Given the description of an element on the screen output the (x, y) to click on. 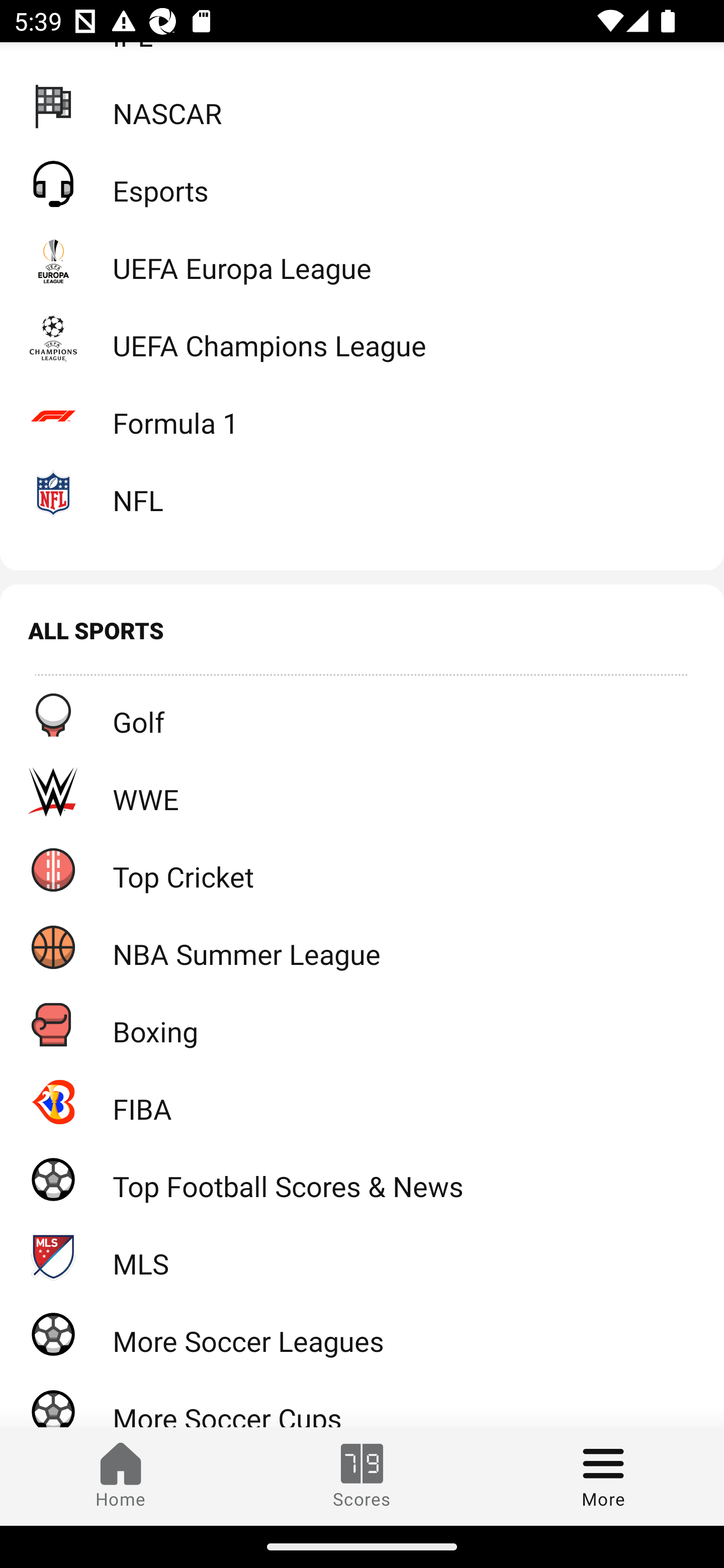
NASCAR (362, 105)
Esports (362, 183)
UEFA Europa League (362, 260)
UEFA Champions League (362, 337)
Formula 1 (362, 415)
NFL (362, 492)
Golf (362, 713)
WWE (362, 791)
Top Cricket (362, 869)
NBA Summer League (362, 946)
Boxing (362, 1024)
FIBA  (362, 1101)
Top Football Scores & News (362, 1178)
MLS (362, 1256)
More Soccer Leagues (362, 1333)
Home (120, 1475)
Scores (361, 1475)
